Given the description of an element on the screen output the (x, y) to click on. 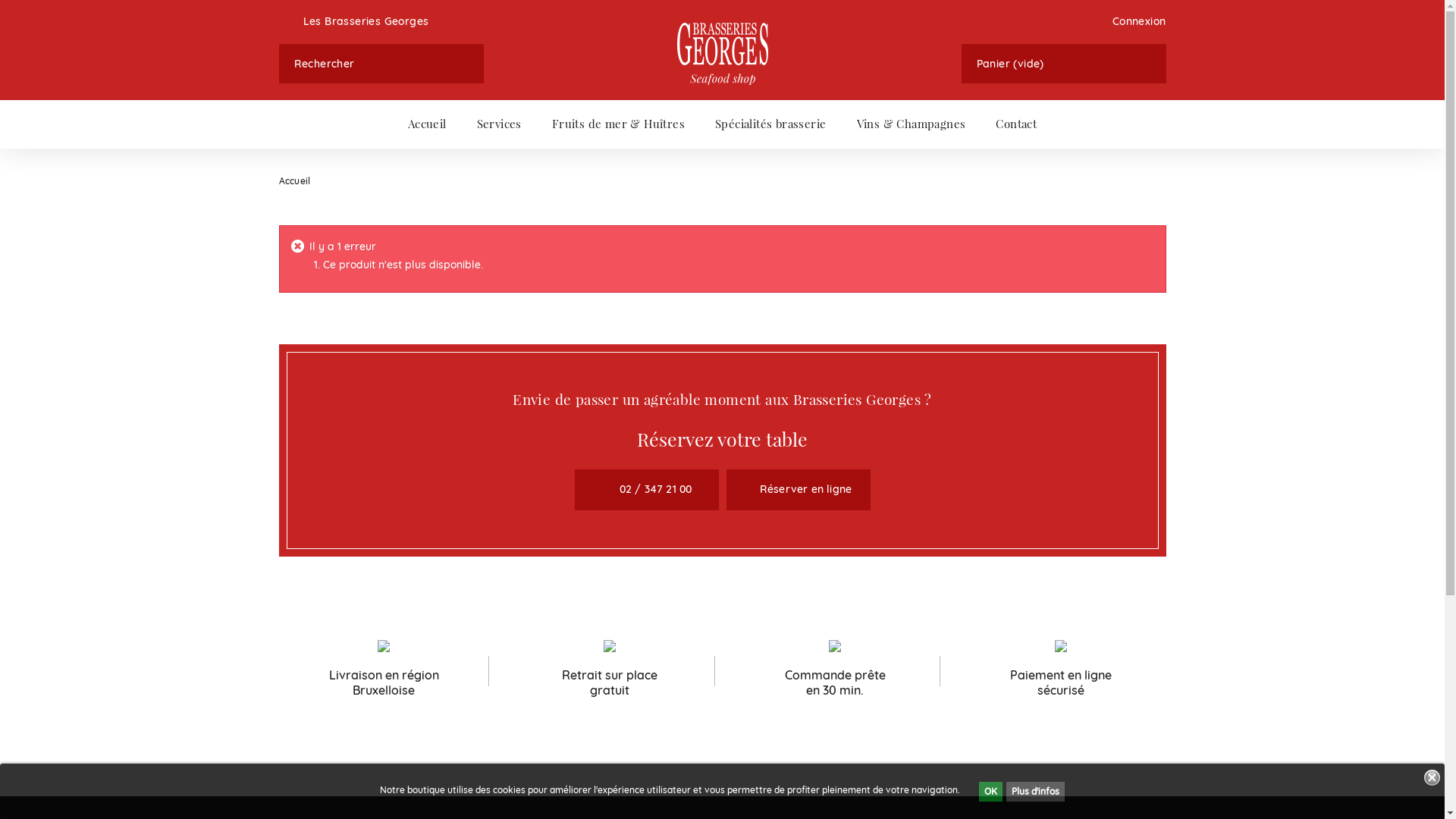
Panier (vide) Element type: text (1063, 63)
Accueil Element type: text (300, 181)
Accueil Element type: text (426, 124)
02 / 347 21 00 Element type: text (646, 489)
Plus d'infos Element type: text (1035, 790)
Connexion Element type: text (1132, 20)
Services Element type: text (498, 124)
Les Brasseries Georges Element type: text (354, 20)
Vins & Champagnes Element type: text (911, 124)
Contact Element type: text (1015, 124)
